Given the description of an element on the screen output the (x, y) to click on. 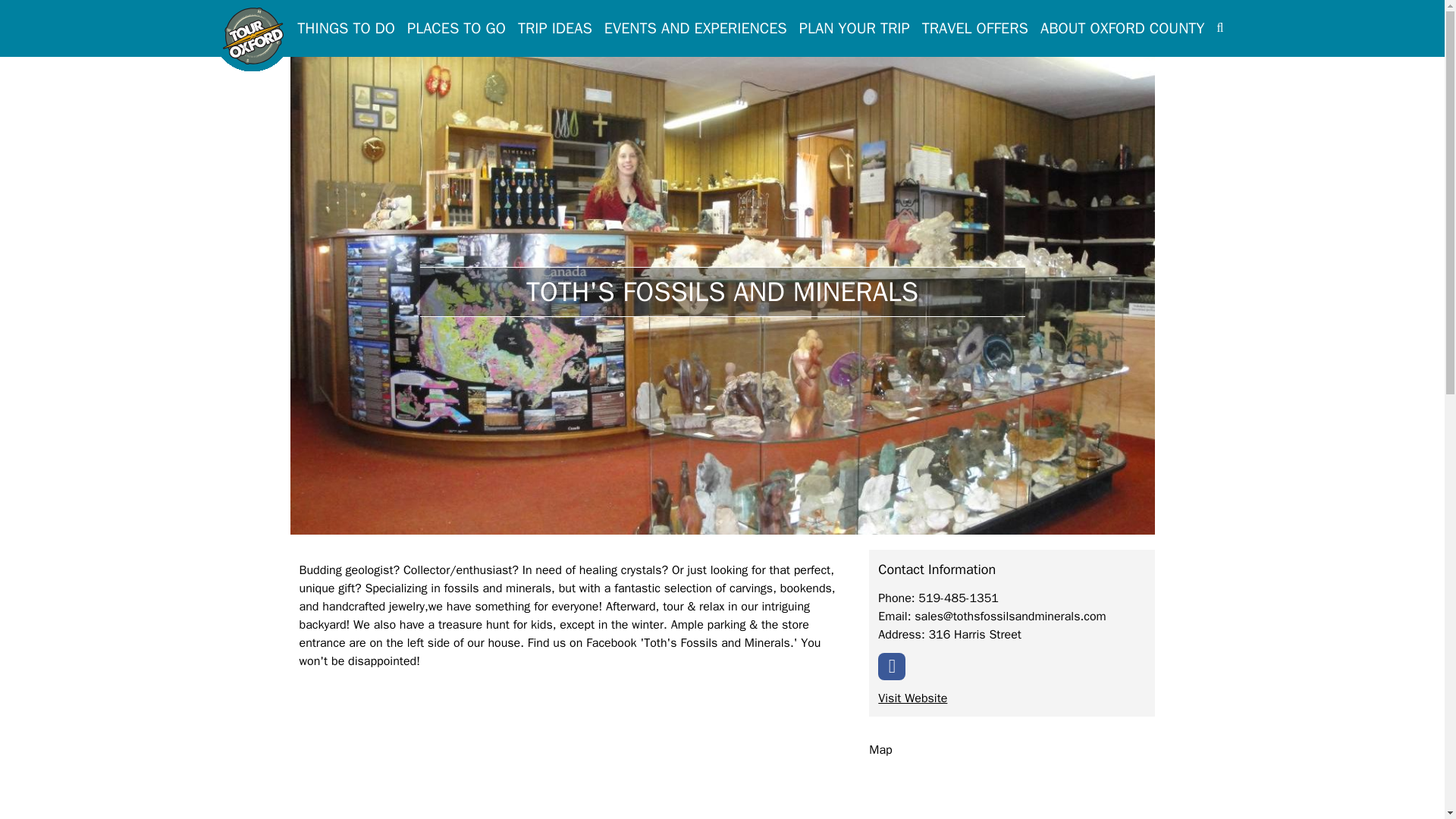
PLACES TO GO (456, 28)
THINGS TO DO (345, 28)
TRIP IDEAS (555, 28)
Tourism Oxford (253, 38)
PLAN YOUR TRIP (854, 28)
EVENTS AND EXPERIENCES (695, 28)
